Given the description of an element on the screen output the (x, y) to click on. 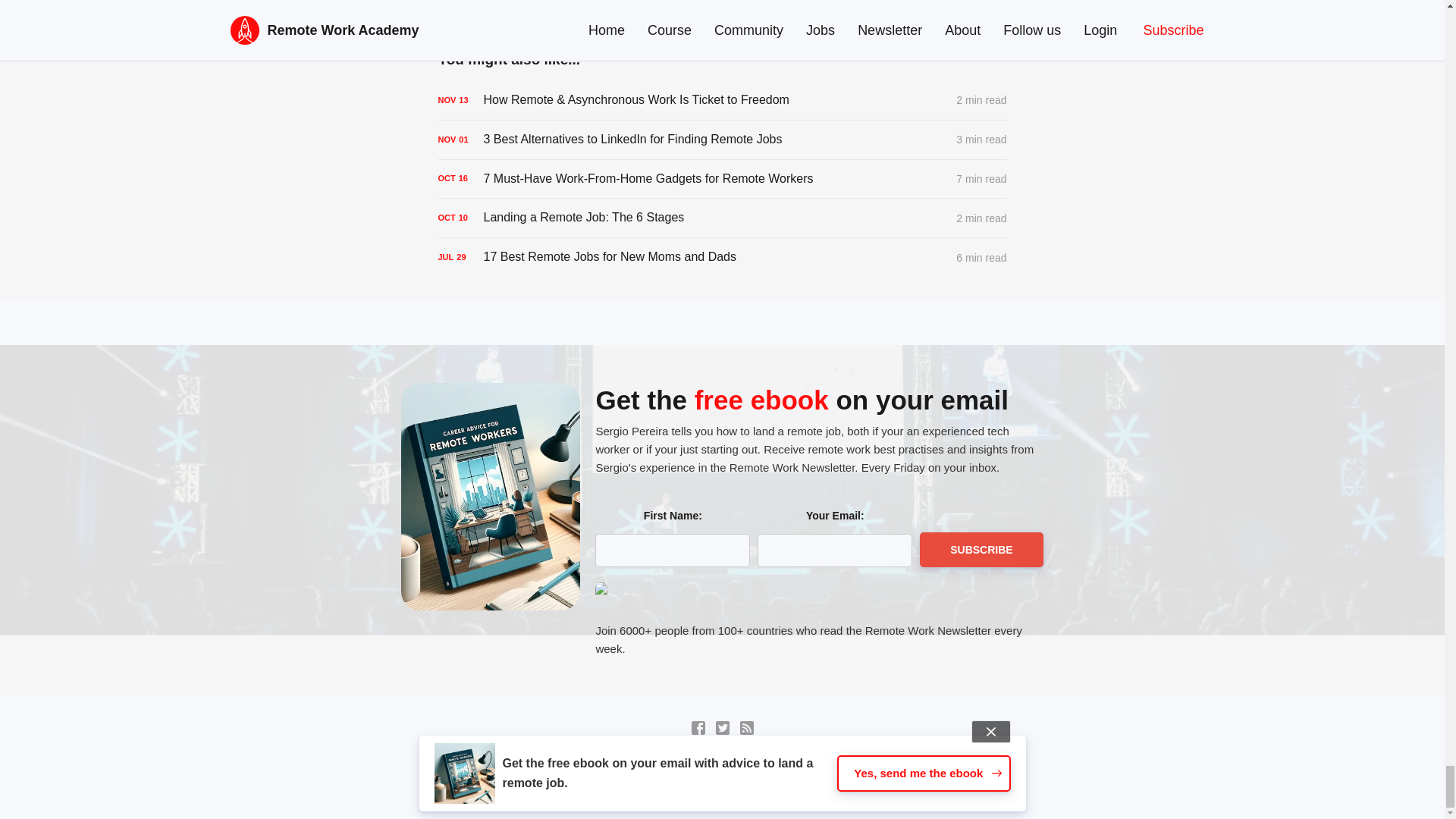
Facebook (697, 728)
RSS (745, 728)
3 Best Alternatives to LinkedIn for Finding Remote Jobs (722, 138)
17 Best Remote Jobs for New Moms and Dads (722, 256)
Twitter (721, 728)
7 Must-Have Work-From-Home Gadgets for Remote Workers (722, 178)
Landing a Remote Job: The 6 Stages (722, 217)
